Given the description of an element on the screen output the (x, y) to click on. 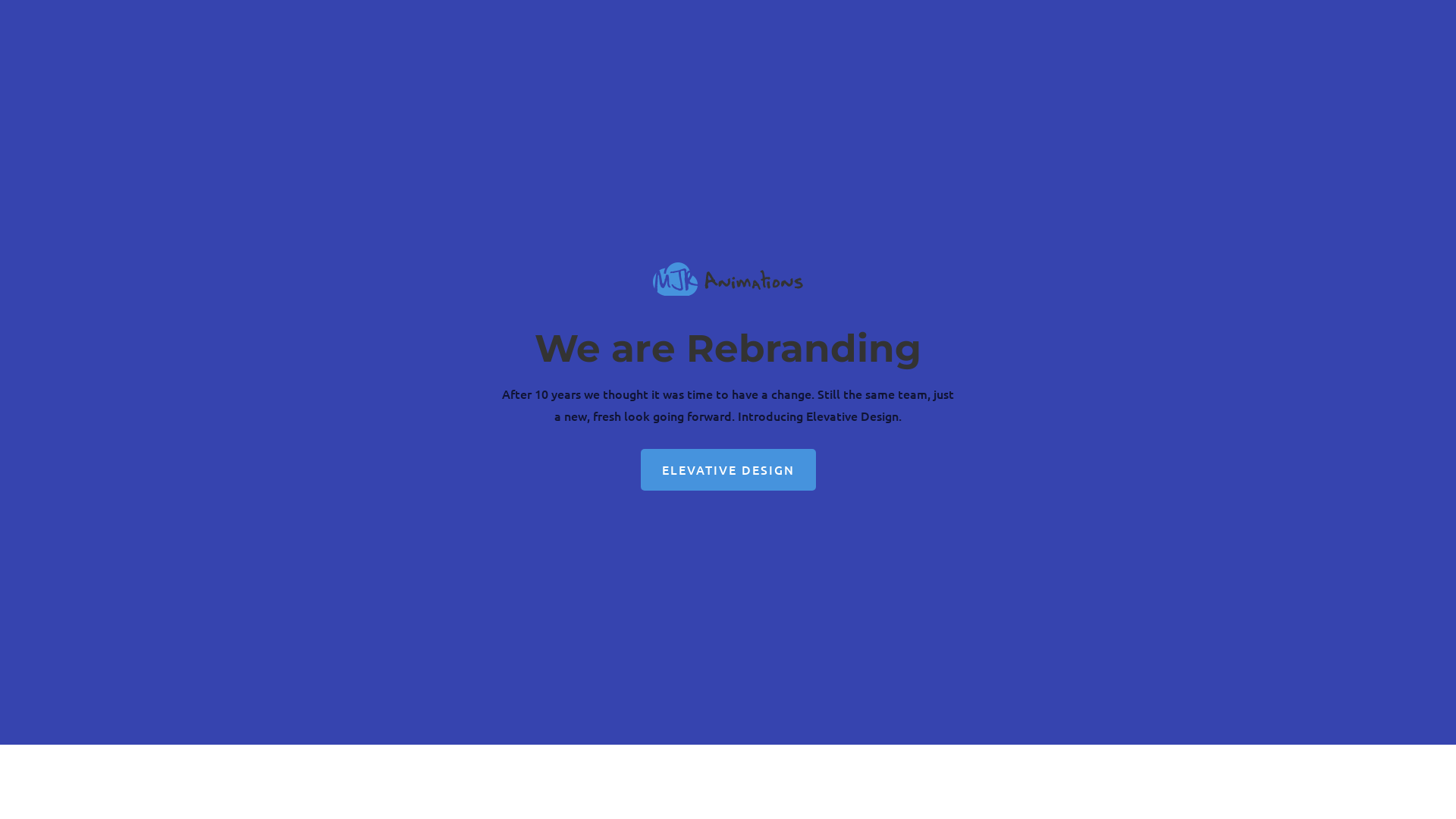
ELEVATIVE DESIGN Element type: text (727, 469)
